Given the description of an element on the screen output the (x, y) to click on. 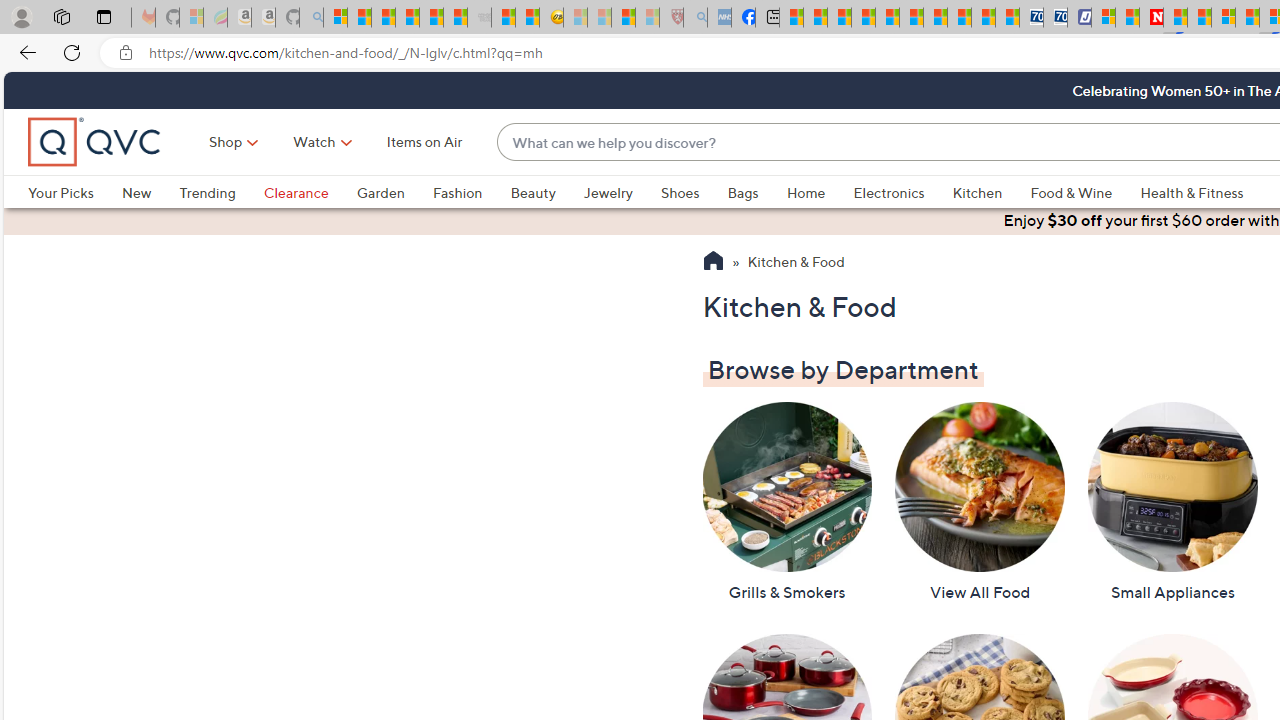
Clearance (295, 192)
Items on Air (424, 141)
New (150, 192)
Garden (379, 192)
View All Food (979, 502)
Fashion (471, 192)
Shop (226, 141)
